Given the description of an element on the screen output the (x, y) to click on. 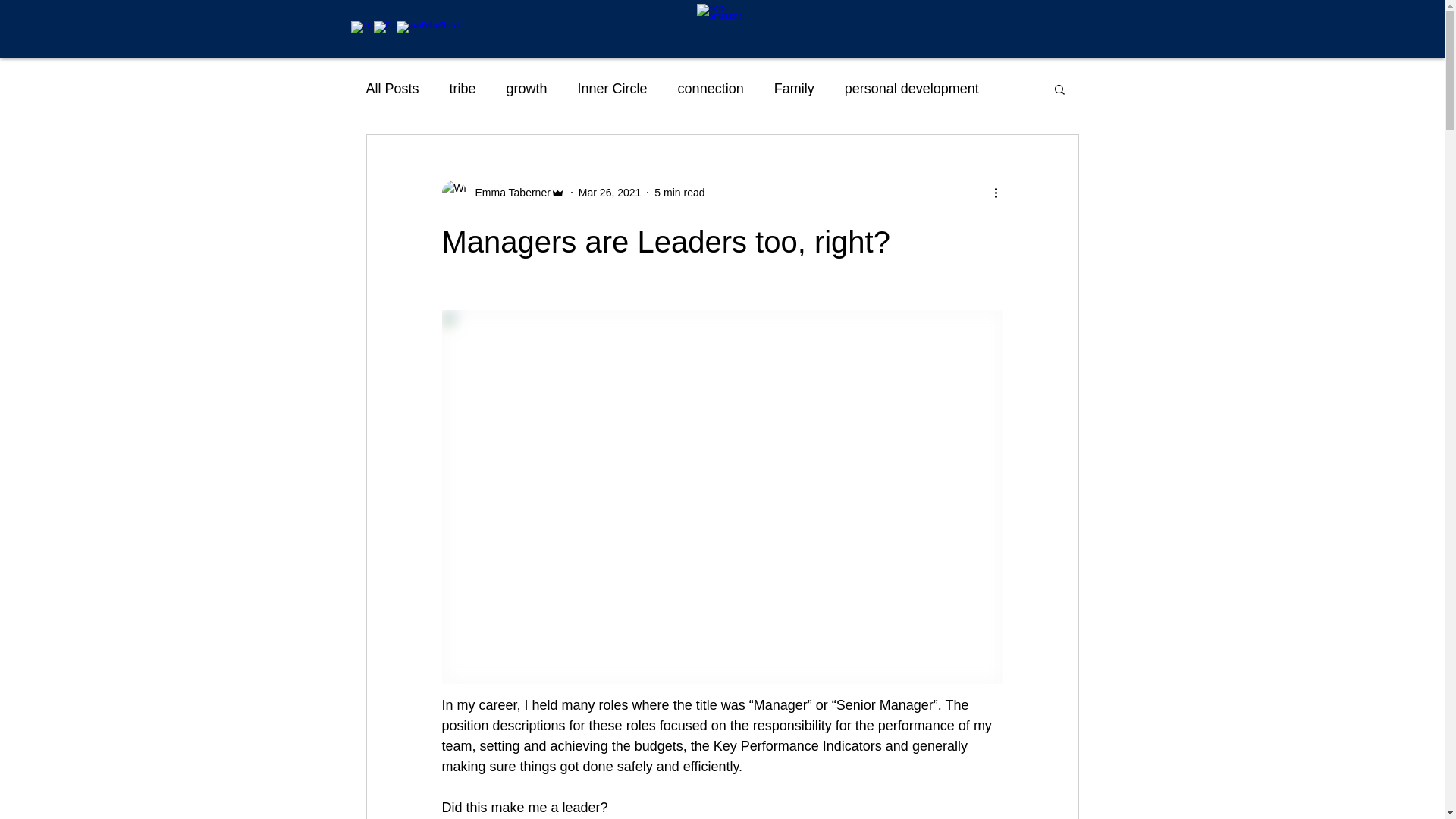
growth Element type: text (526, 88)
tribe Element type: text (462, 88)
All Posts Element type: text (391, 88)
Inner Circle Element type: text (612, 88)
personal development Element type: text (911, 88)
Emma Taberner Element type: text (502, 192)
Family Element type: text (794, 88)
connection Element type: text (710, 88)
